Given the description of an element on the screen output the (x, y) to click on. 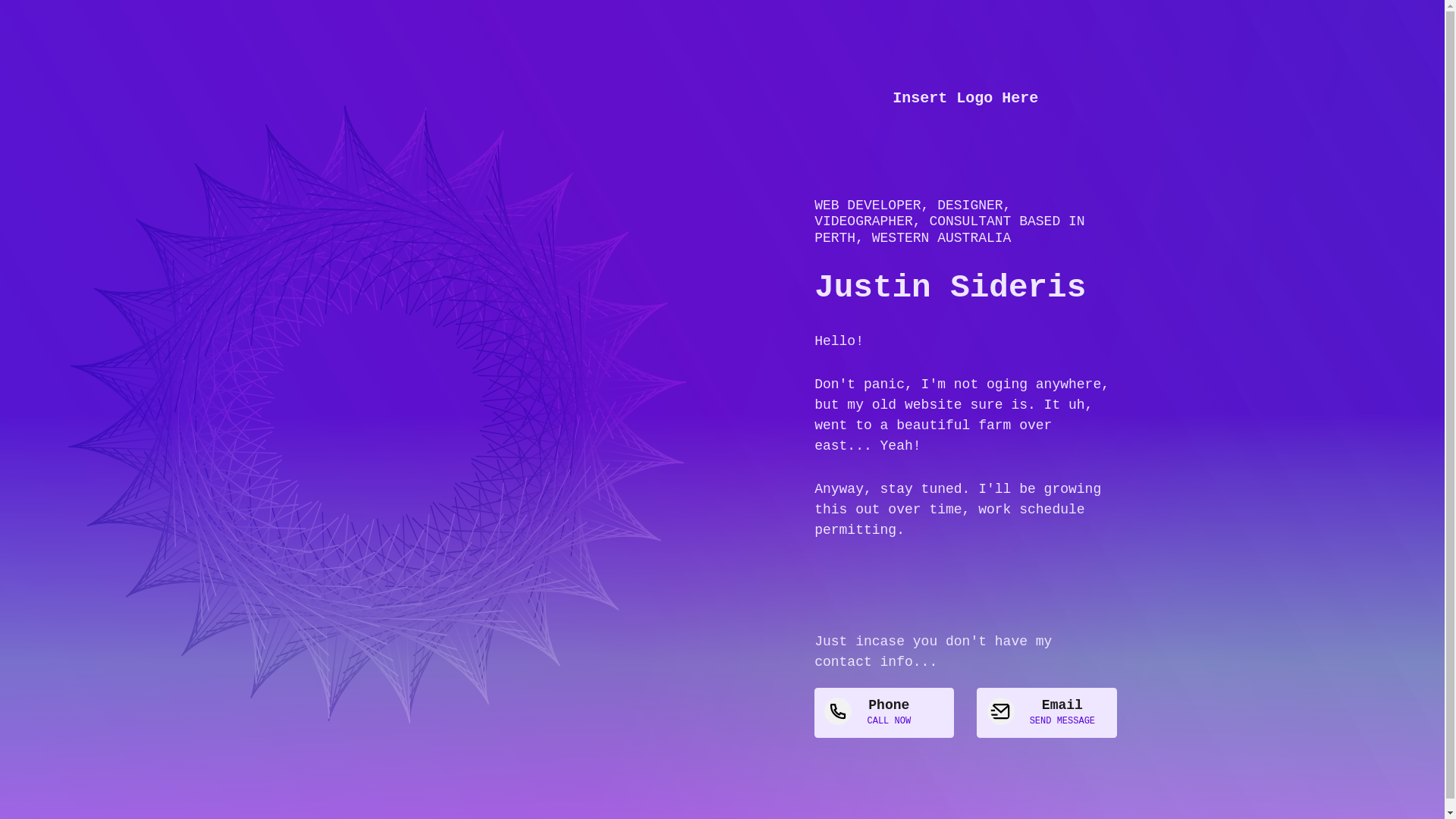
SEND MESSAGE Element type: text (1062, 721)
Insert Logo Here Element type: text (965, 98)
CALL NOW Element type: text (888, 721)
